Given the description of an element on the screen output the (x, y) to click on. 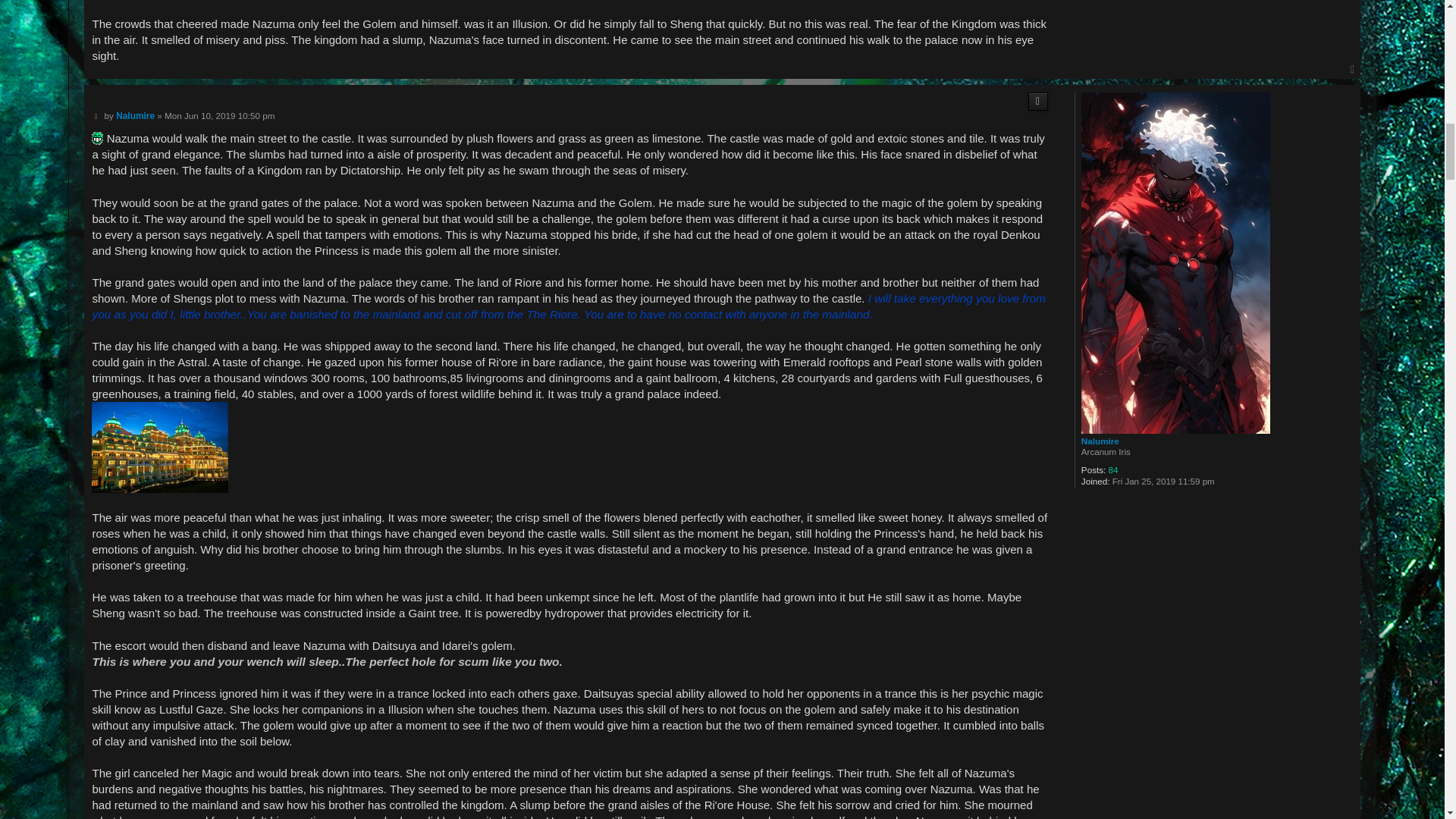
Nalumire (1100, 440)
Post (96, 115)
Quote (1037, 101)
84 (1113, 470)
Top (1352, 69)
